Given the description of an element on the screen output the (x, y) to click on. 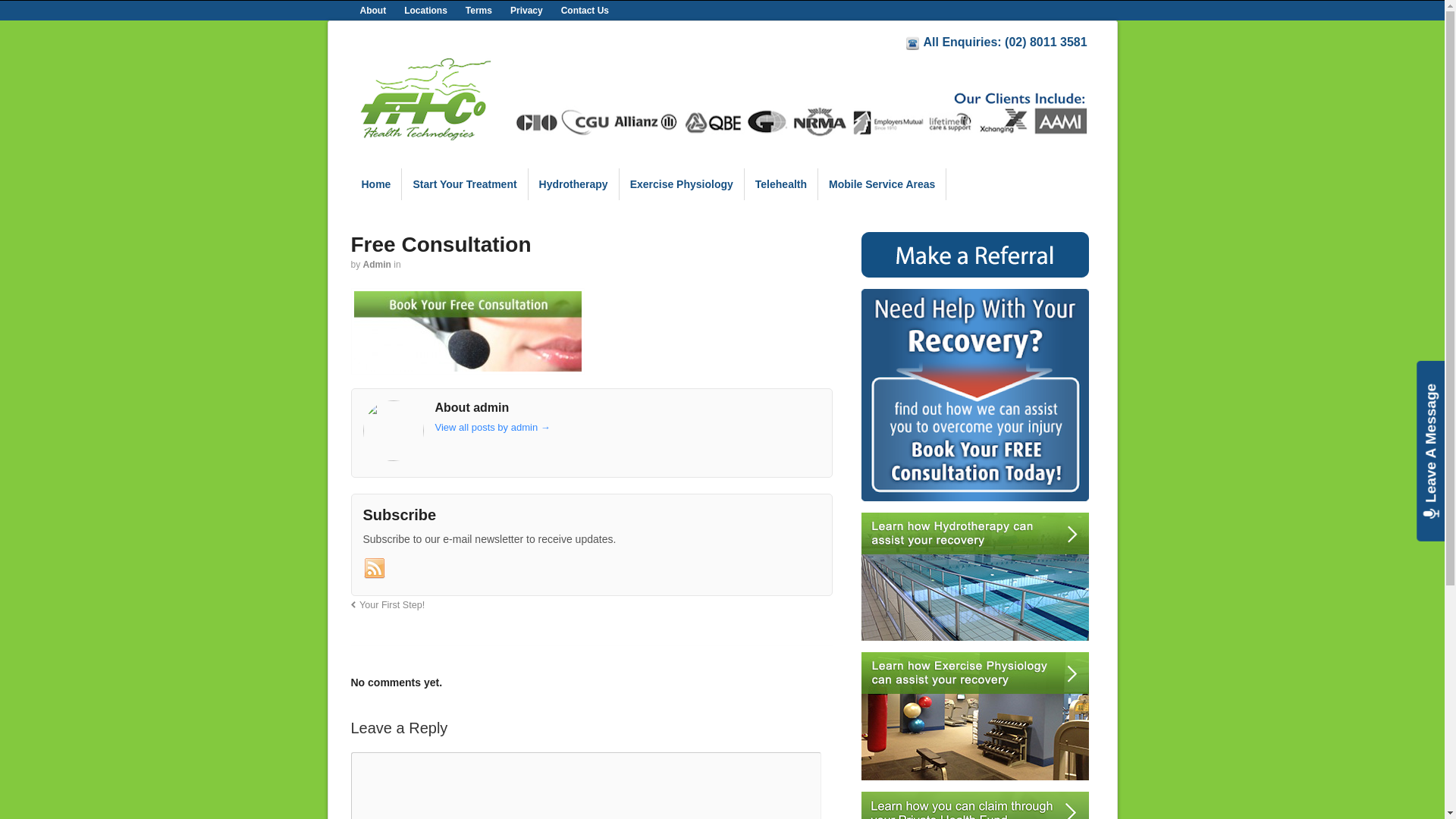
Your First Step! Element type: text (387, 604)
Admin Element type: text (377, 264)
Locations Element type: text (425, 10)
Terms Element type: text (478, 10)
Make A Referral Element type: hover (975, 254)
Hydrotherapy Element type: hover (975, 576)
Privacy Element type: text (526, 10)
Start Your Treatment Element type: text (464, 184)
Hydrotherapy Element type: text (573, 184)
Mobile Service Areas Element type: text (881, 184)
Contact Us Element type: text (585, 10)
All Enquiries: (02) 8011 3581 Element type: text (1007, 41)
Home Element type: text (375, 184)
RSS Element type: hover (373, 568)
Exercise Physiology Element type: text (681, 184)
Telehealth Element type: text (780, 184)
Free Consultation Element type: hover (975, 394)
About Element type: text (372, 10)
Exercise Physiology Element type: hover (975, 716)
